Given the description of an element on the screen output the (x, y) to click on. 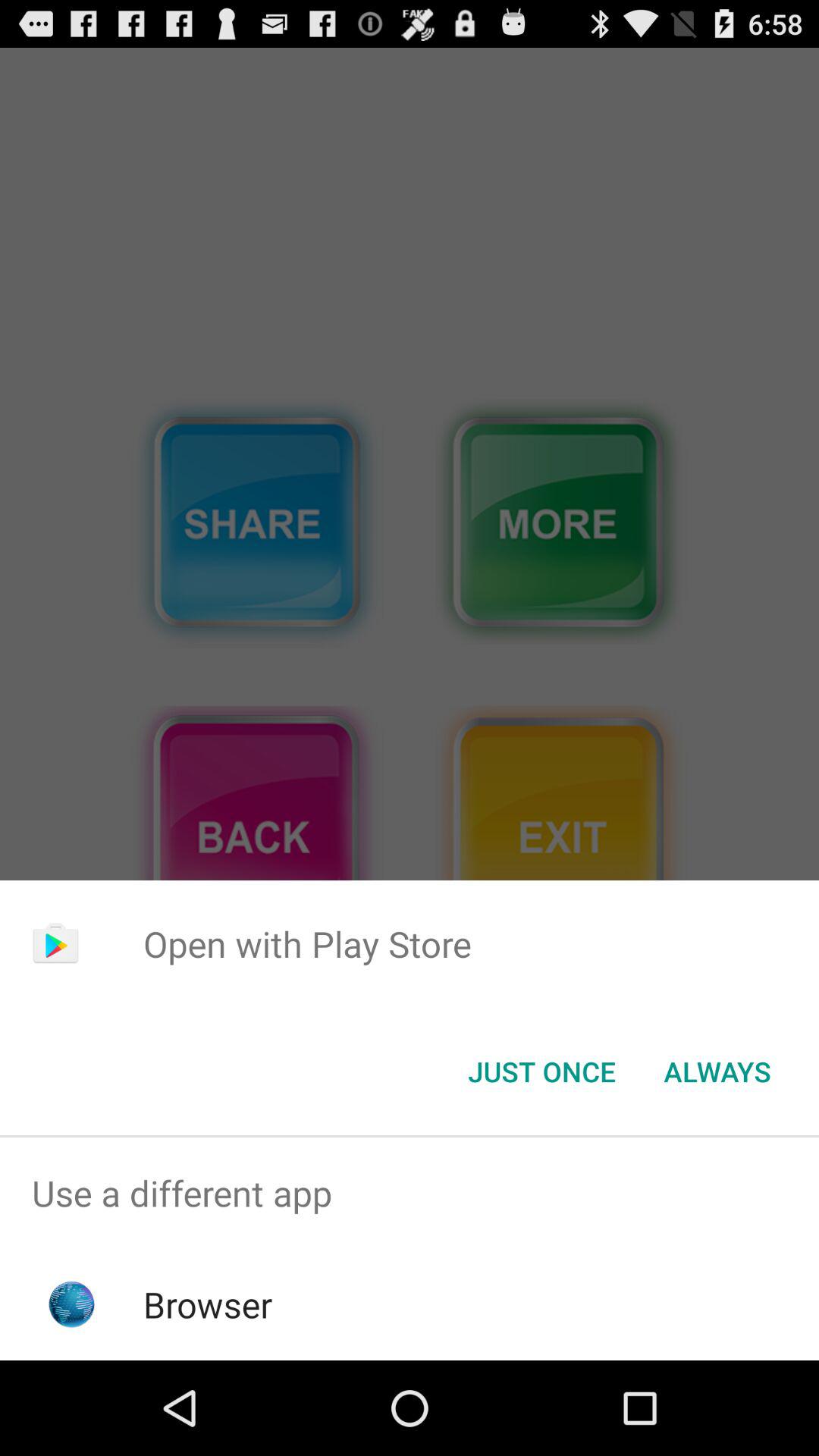
turn on icon next to the always item (541, 1071)
